Given the description of an element on the screen output the (x, y) to click on. 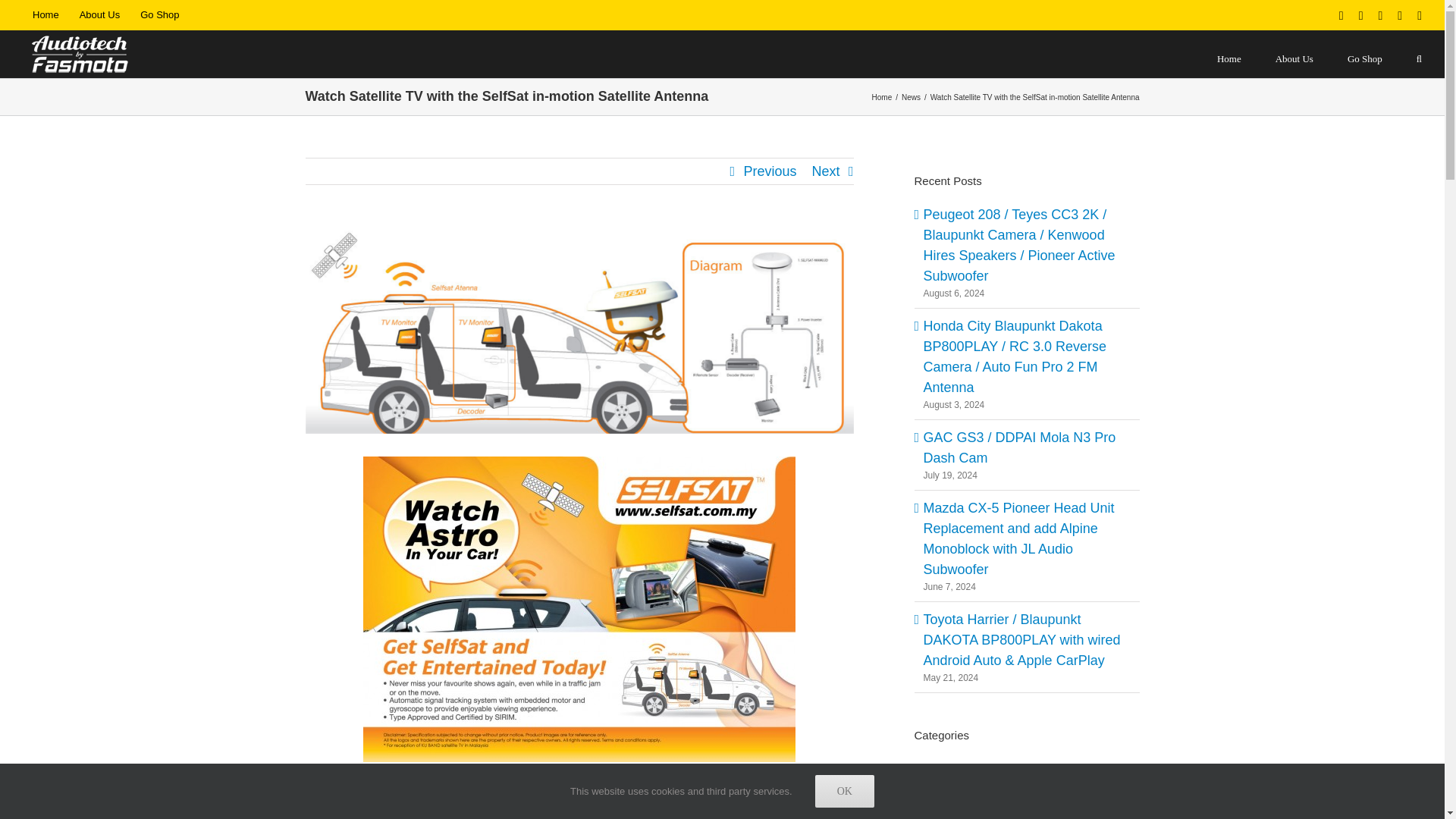
Go Shop (160, 15)
Back to the home page (45, 15)
Home (45, 15)
About Us (99, 15)
News (910, 96)
Home (882, 96)
The Crew (99, 15)
